Given the description of an element on the screen output the (x, y) to click on. 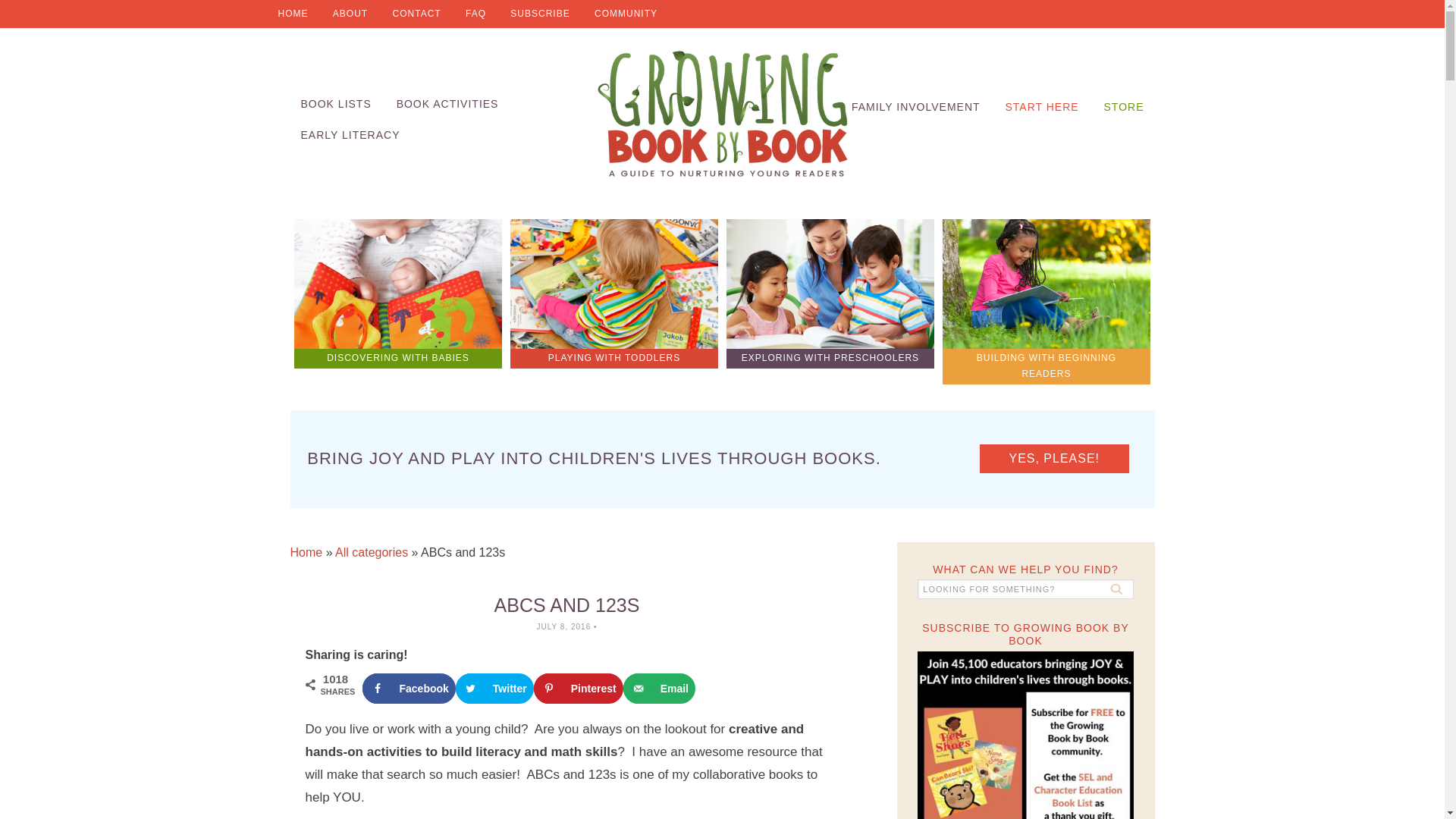
ABOUT (349, 13)
GROWING BOOK BY BOOK (721, 113)
Send over email (659, 688)
FAMILY INVOLVEMENT (916, 106)
CONTACT (416, 13)
Share on Facebook (408, 688)
EARLY LITERACY (349, 134)
Share on Twitter (494, 688)
SUBSCRIBE (539, 13)
BOOK ACTIVITIES (447, 103)
COMMUNITY (625, 13)
FAQ (475, 13)
Save to Pinterest (578, 688)
START HERE (1041, 106)
HOME (292, 13)
